Given the description of an element on the screen output the (x, y) to click on. 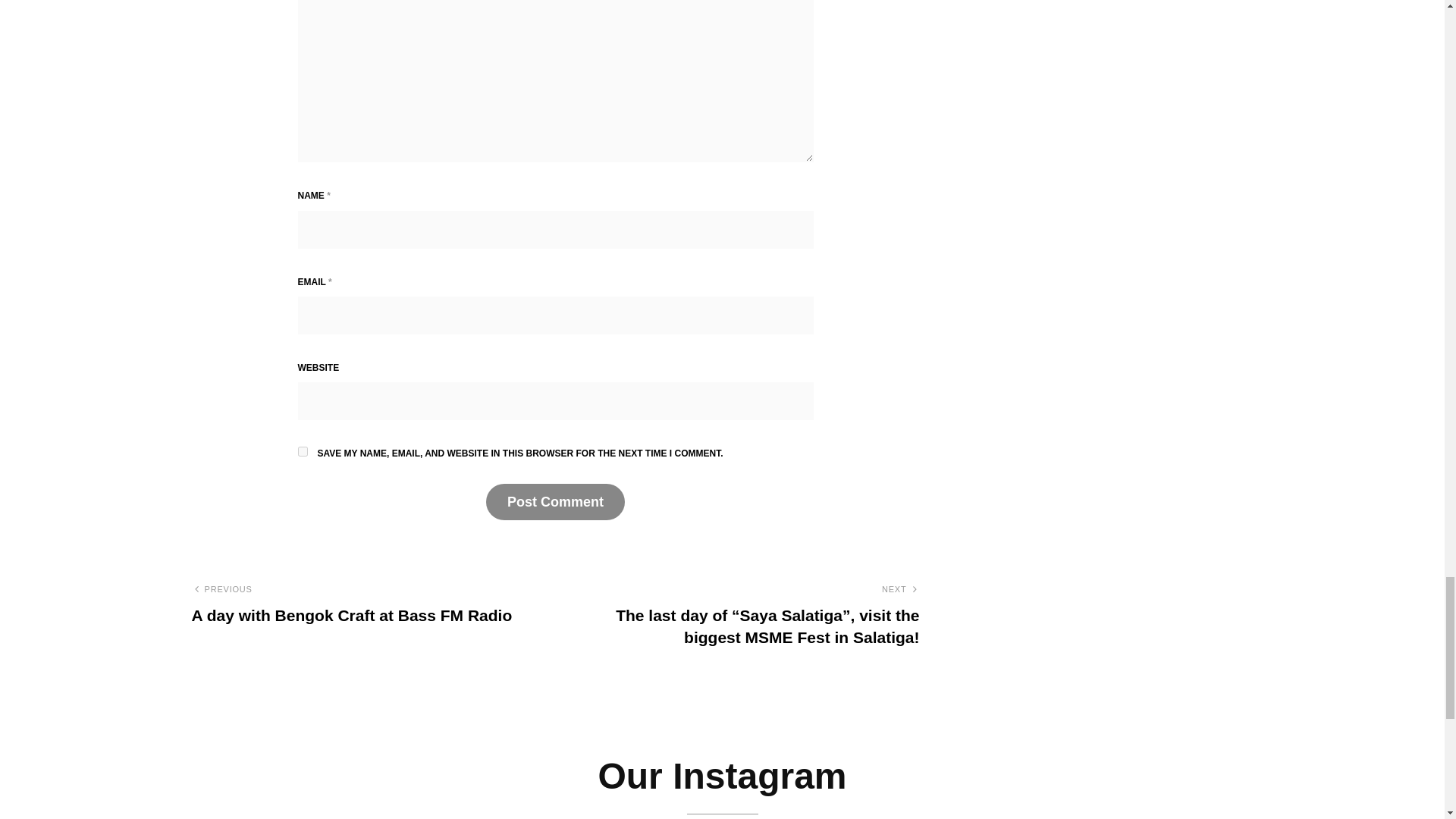
yes (302, 451)
Post Comment (555, 502)
Post Comment (555, 502)
